Given the description of an element on the screen output the (x, y) to click on. 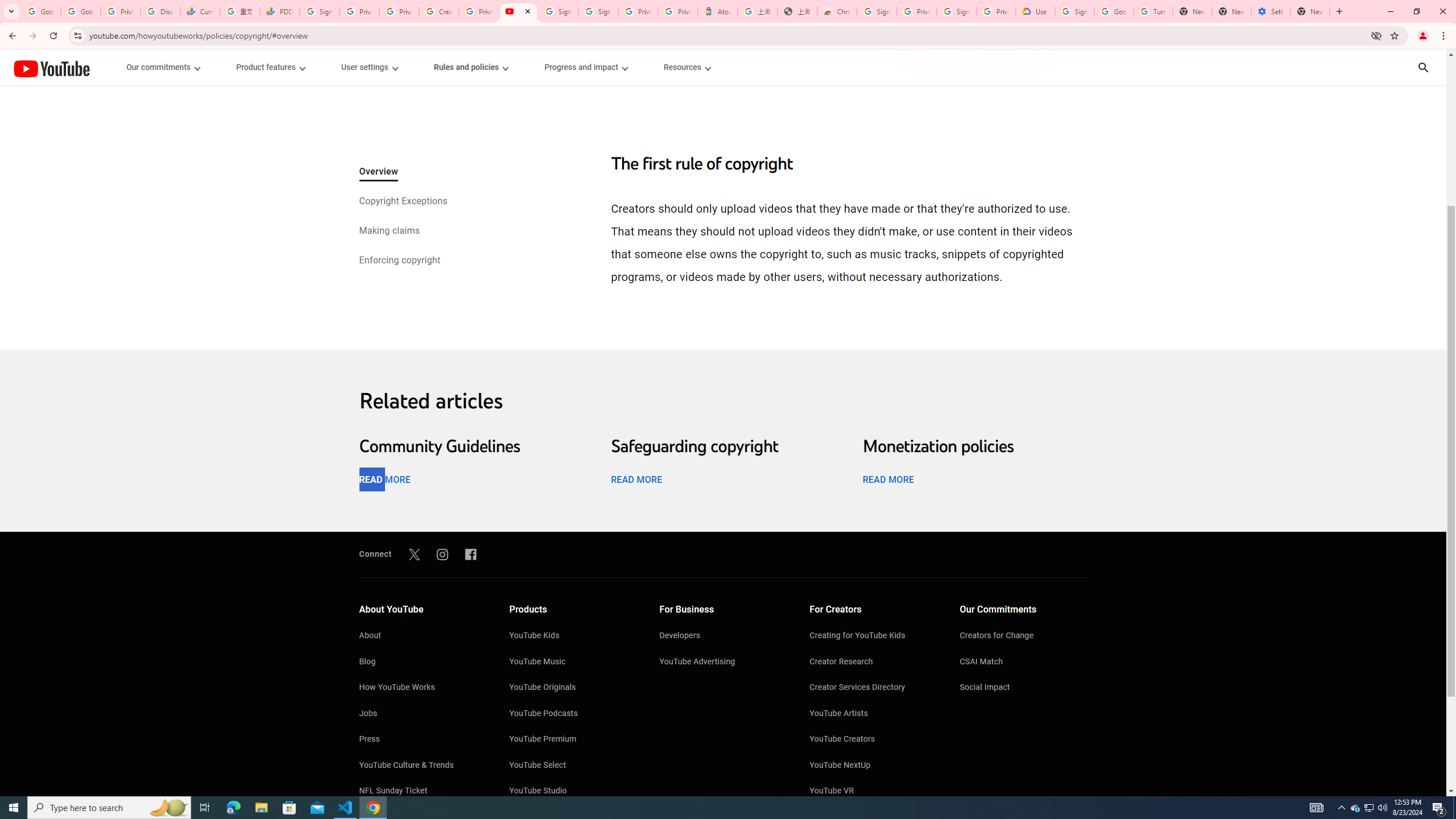
Resources menupopup (686, 67)
Developers (723, 636)
Copyright Exceptions (402, 202)
YouTube Premium (573, 740)
Chrome Web Store - Color themes by Chrome (836, 11)
